Given the description of an element on the screen output the (x, y) to click on. 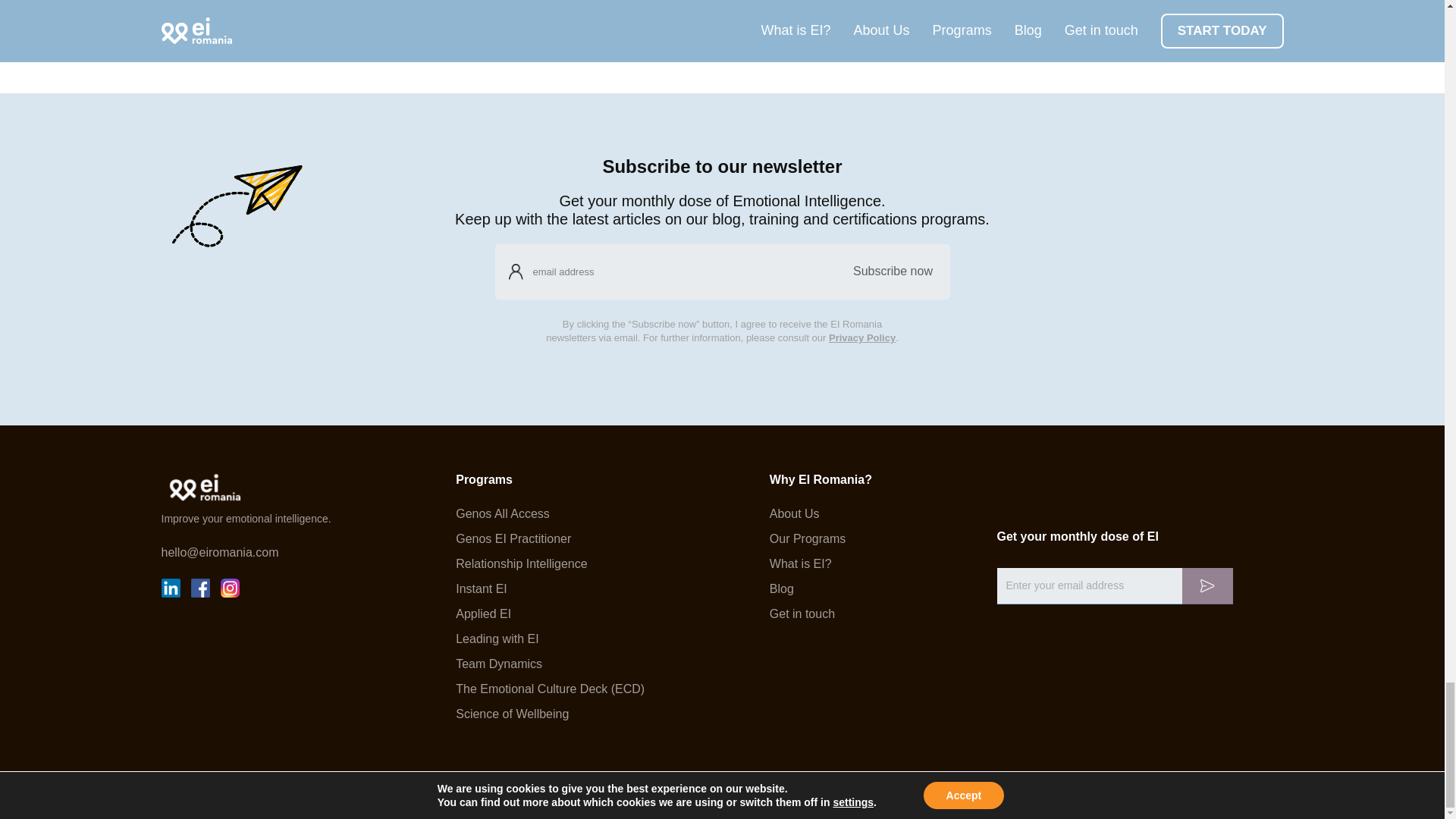
Leading with EI (550, 639)
Subscribe now (892, 271)
Genos All Access (550, 513)
Subscribe now (892, 271)
Send (1205, 586)
Genos EI Practitioner (550, 539)
Privacy Policy (861, 337)
Team Dynamics (550, 664)
Relationship Intelligence (550, 563)
Applied EI (550, 613)
Instant EI (550, 589)
